Given the description of an element on the screen output the (x, y) to click on. 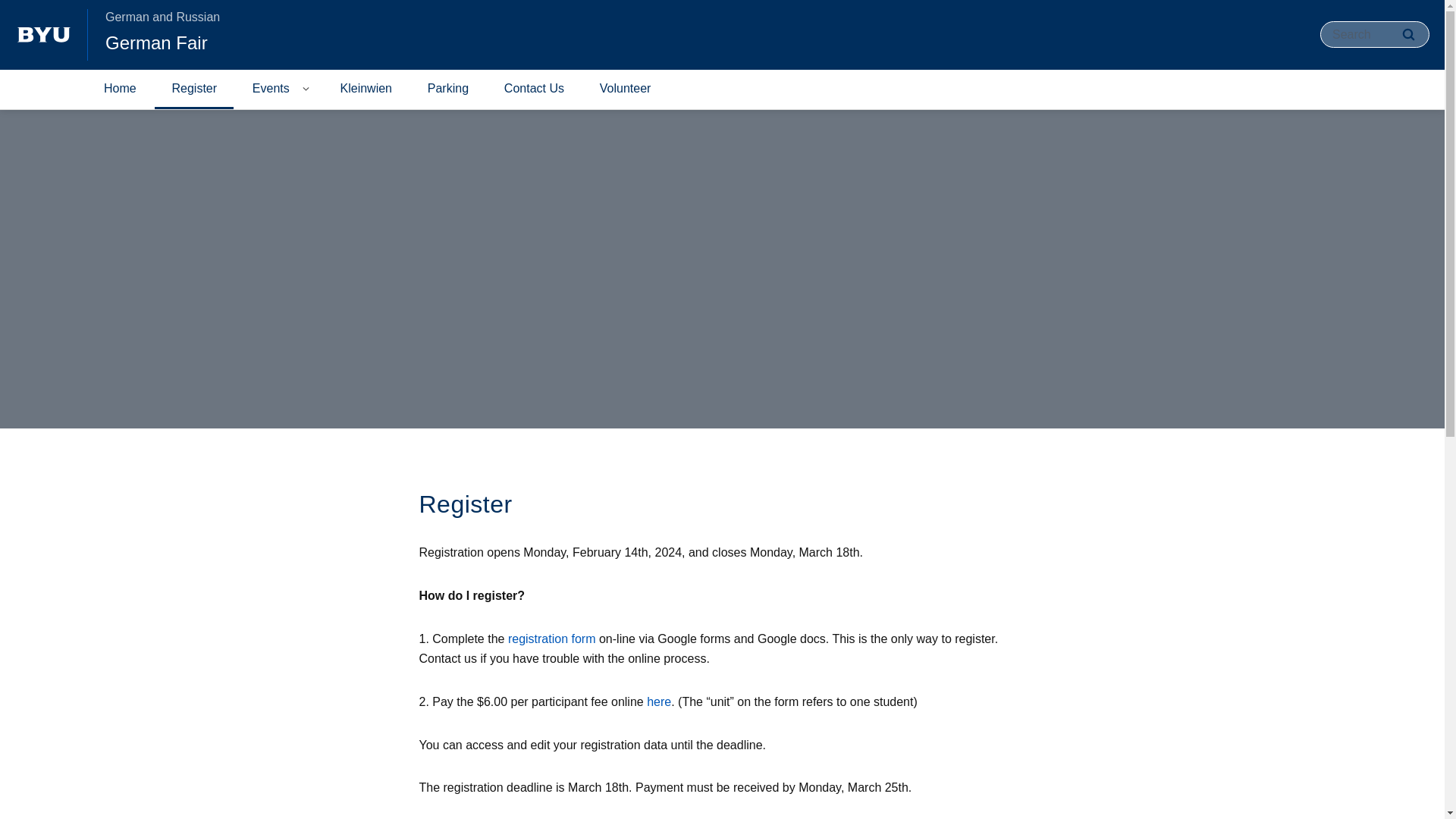
Search (1408, 34)
Register (193, 89)
German Fair (156, 42)
Contact Us (533, 89)
Parking (447, 89)
Home (119, 89)
Kleinwien (366, 89)
here (658, 701)
German and Russian (161, 16)
Events (270, 89)
